Given the description of an element on the screen output the (x, y) to click on. 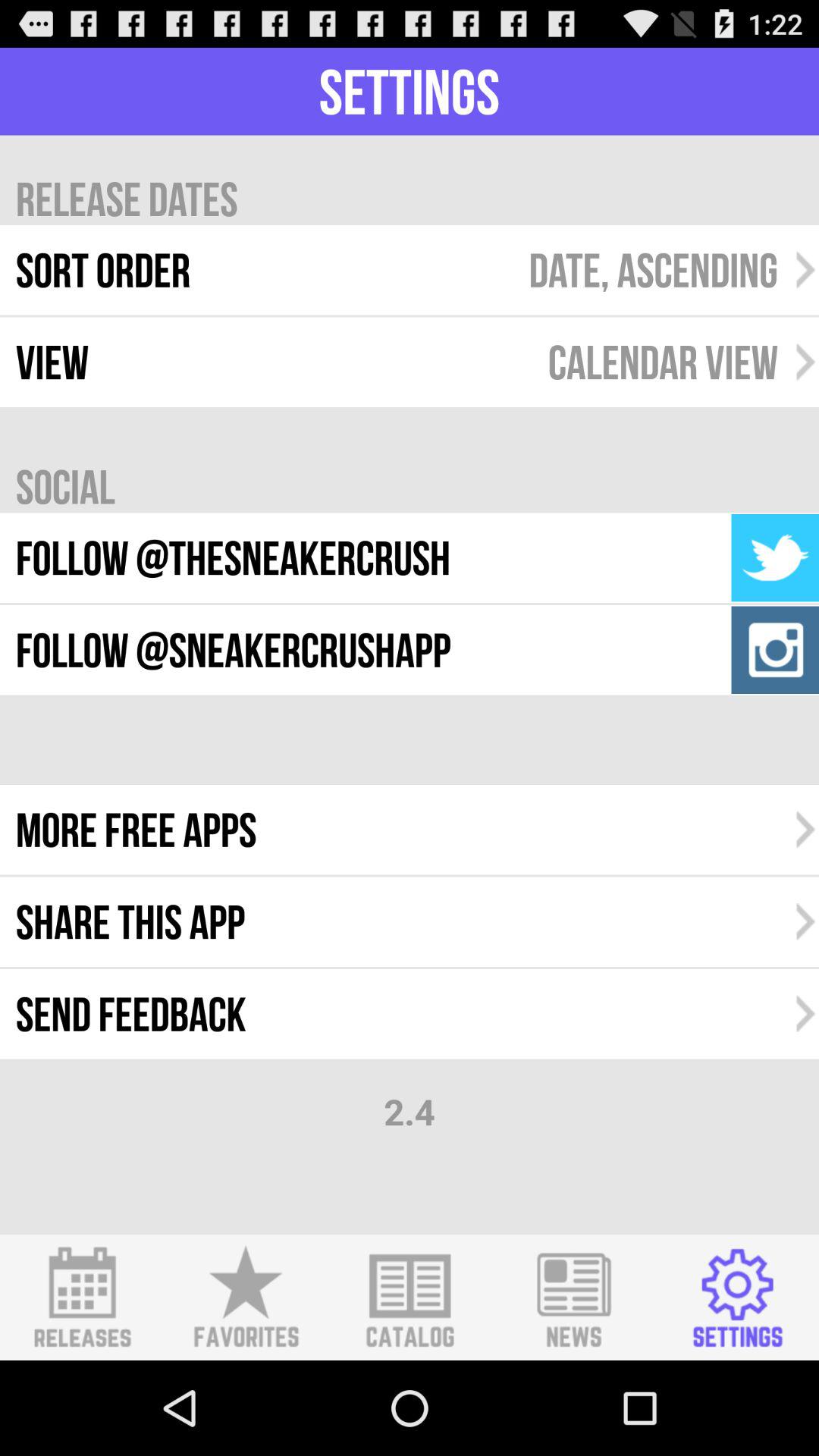
switch settings (737, 1297)
